Given the description of an element on the screen output the (x, y) to click on. 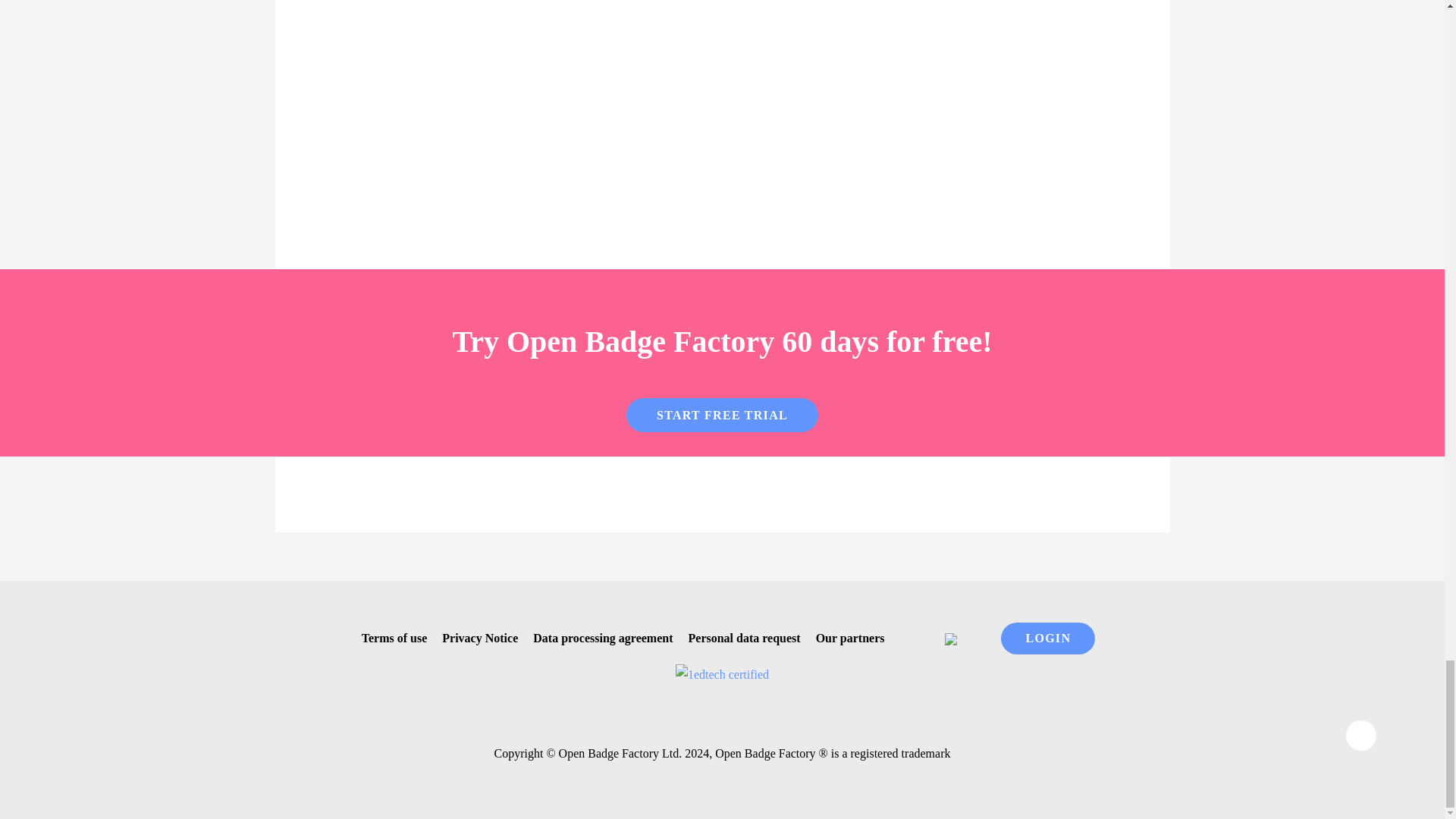
Our partners (844, 637)
Personal data request (738, 637)
Terms of use (388, 637)
Data processing agreement (596, 637)
Privacy Notice (473, 637)
START FREE TRIAL (722, 415)
